Given the description of an element on the screen output the (x, y) to click on. 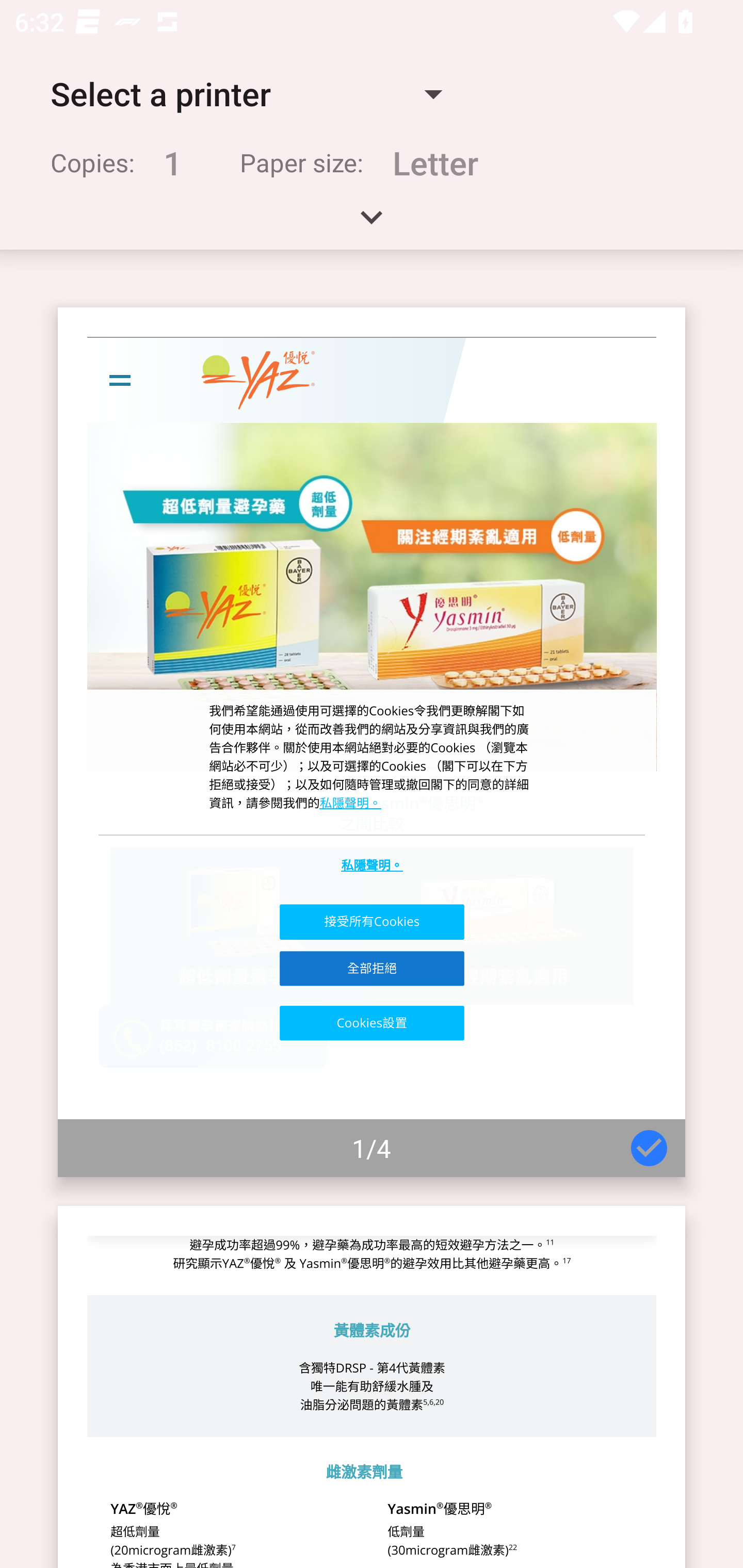
Select a printer (245, 93)
Expand handle (371, 224)
Page 1 of 4 1/4 (371, 742)
Page 2 of 4 (371, 1386)
